Given the description of an element on the screen output the (x, y) to click on. 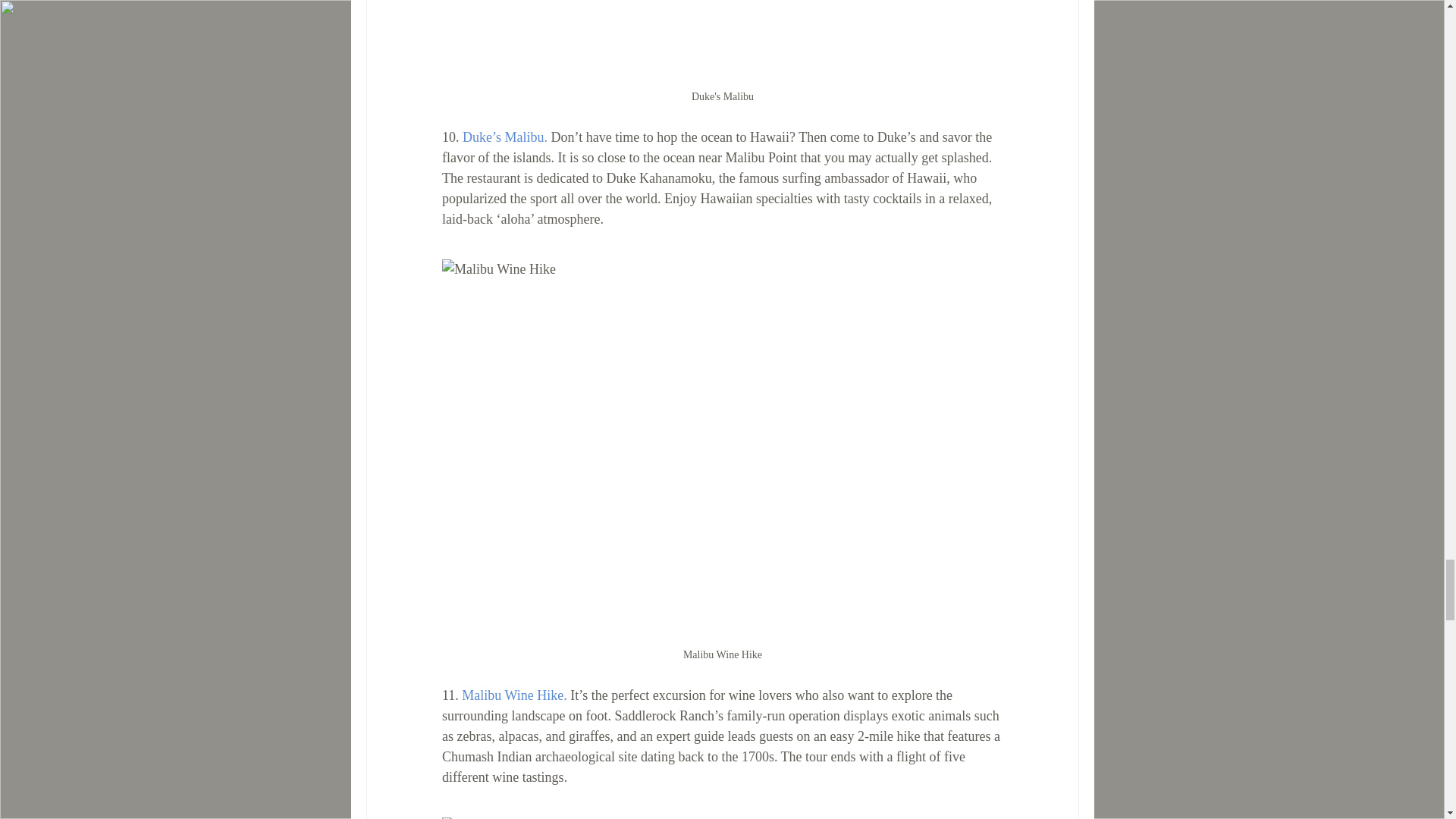
Malibu Wine Hike. (513, 694)
